Given the description of an element on the screen output the (x, y) to click on. 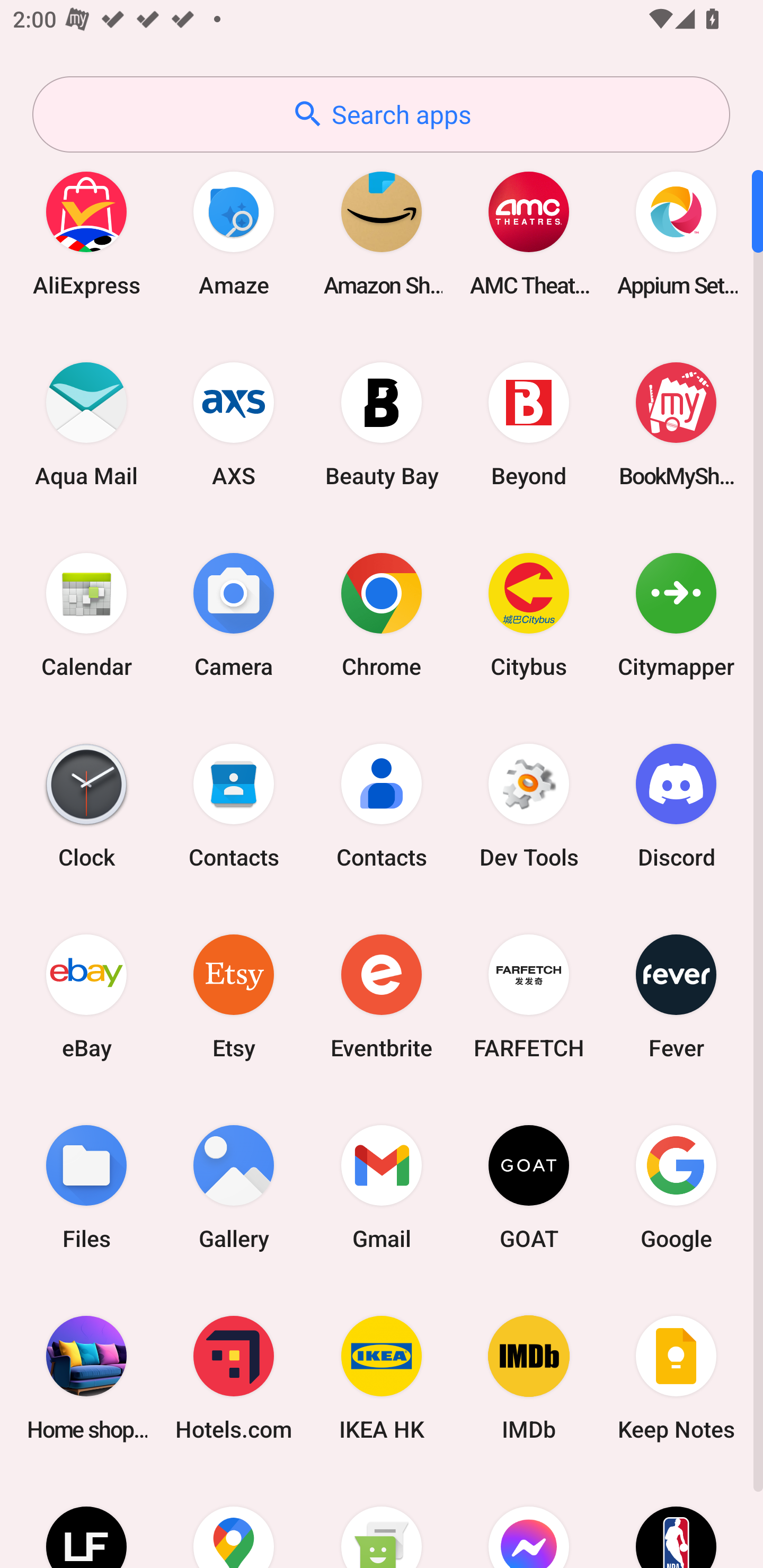
Citymapper (676, 614)
